Given the description of an element on the screen output the (x, y) to click on. 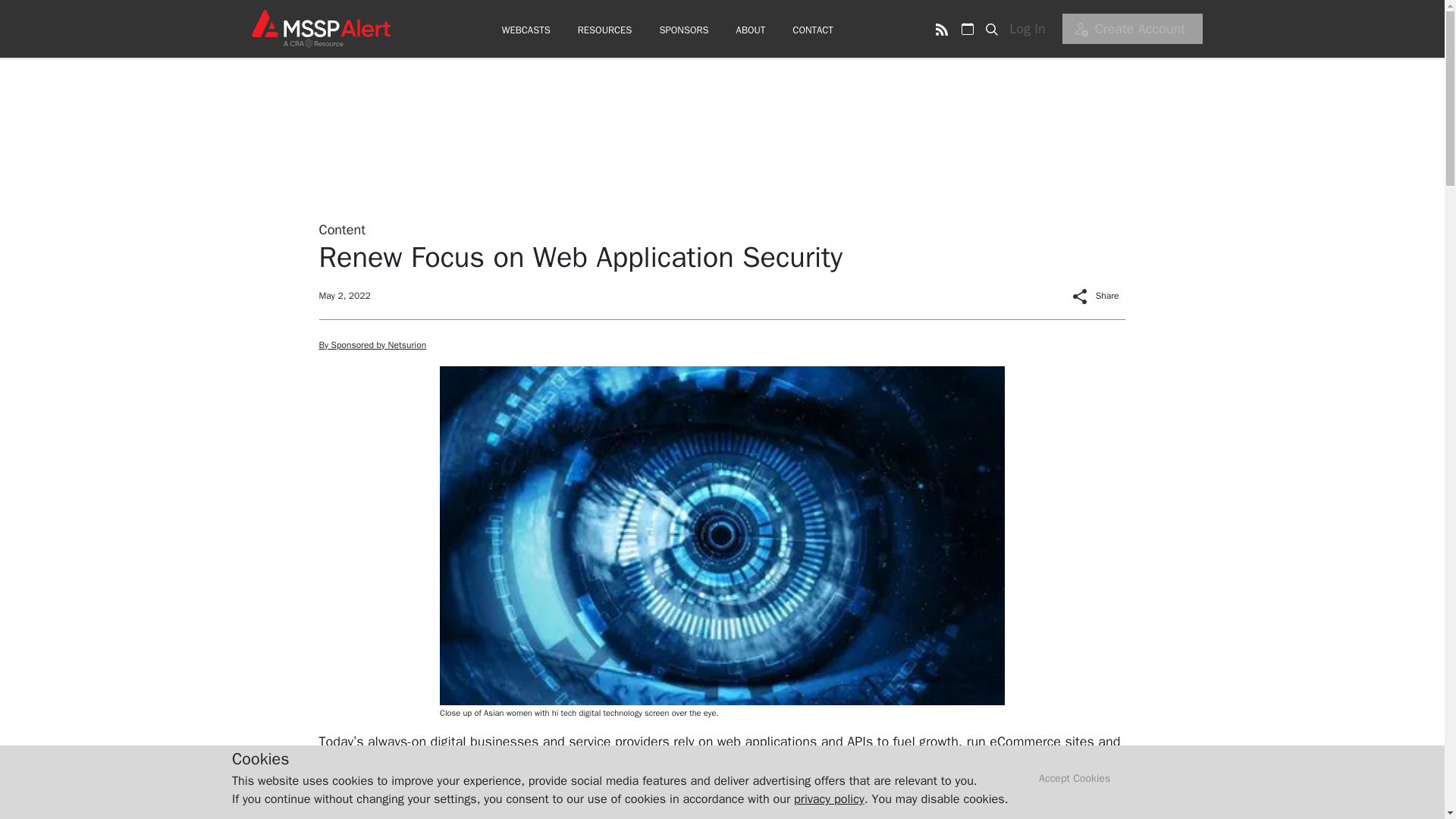
ABOUT (750, 30)
MSSP Alert (319, 27)
Content (341, 229)
SPONSORS (683, 30)
Create Account (1132, 29)
RESOURCES (604, 30)
Log In (1032, 29)
CONTACT (812, 30)
View Cybersecurity Conference Calendar (967, 28)
By Sponsored by Netsurion (372, 345)
